Given the description of an element on the screen output the (x, y) to click on. 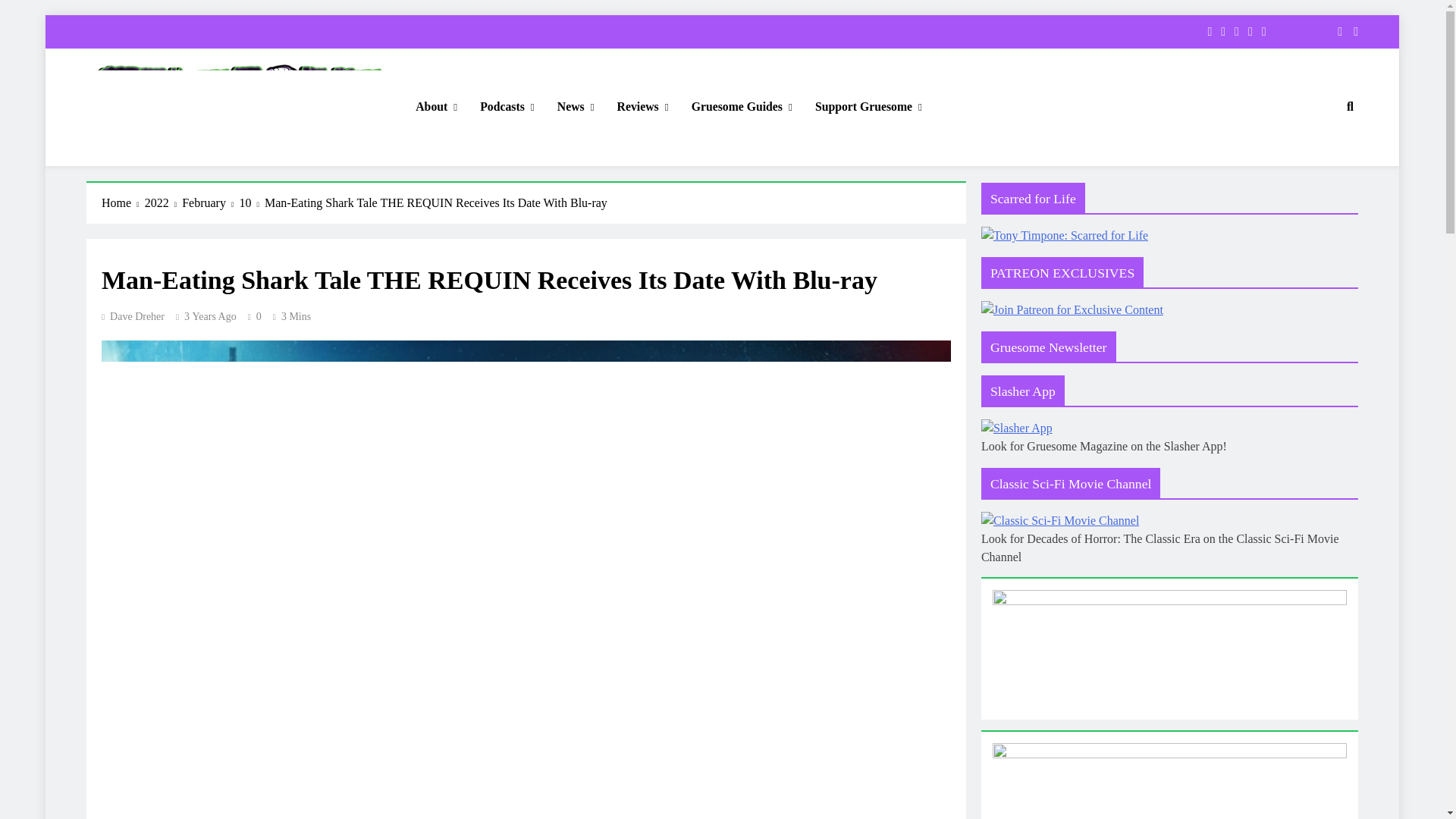
Gruesome Guides (741, 106)
About (436, 106)
Reviews (642, 106)
Gruesome Magazine (187, 167)
Support Gruesome (868, 106)
News (575, 106)
Podcasts (507, 106)
Guides to Theatrical and Streaming Movies (741, 106)
